Given the description of an element on the screen output the (x, y) to click on. 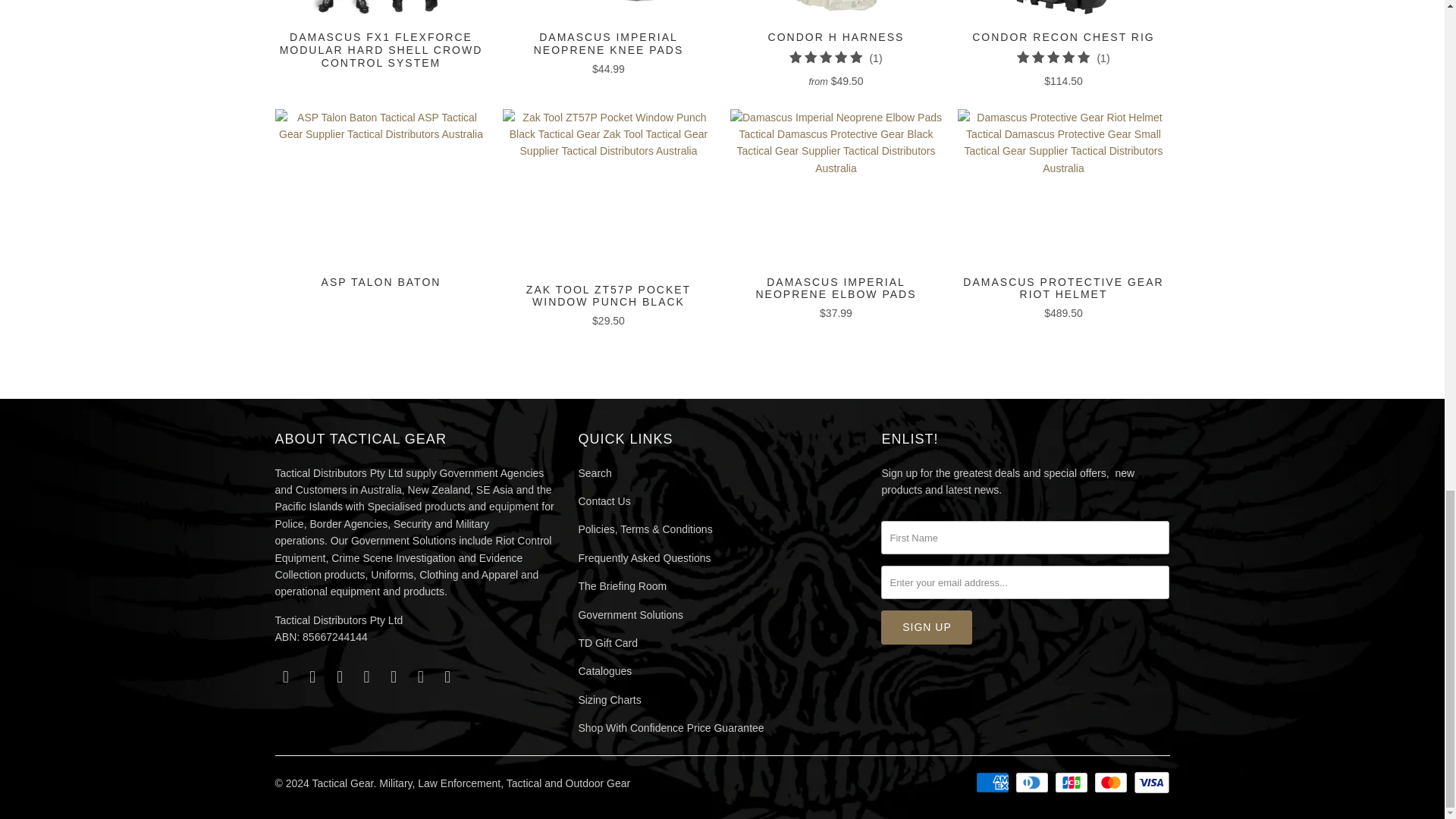
Sign Up (926, 627)
